Given the description of an element on the screen output the (x, y) to click on. 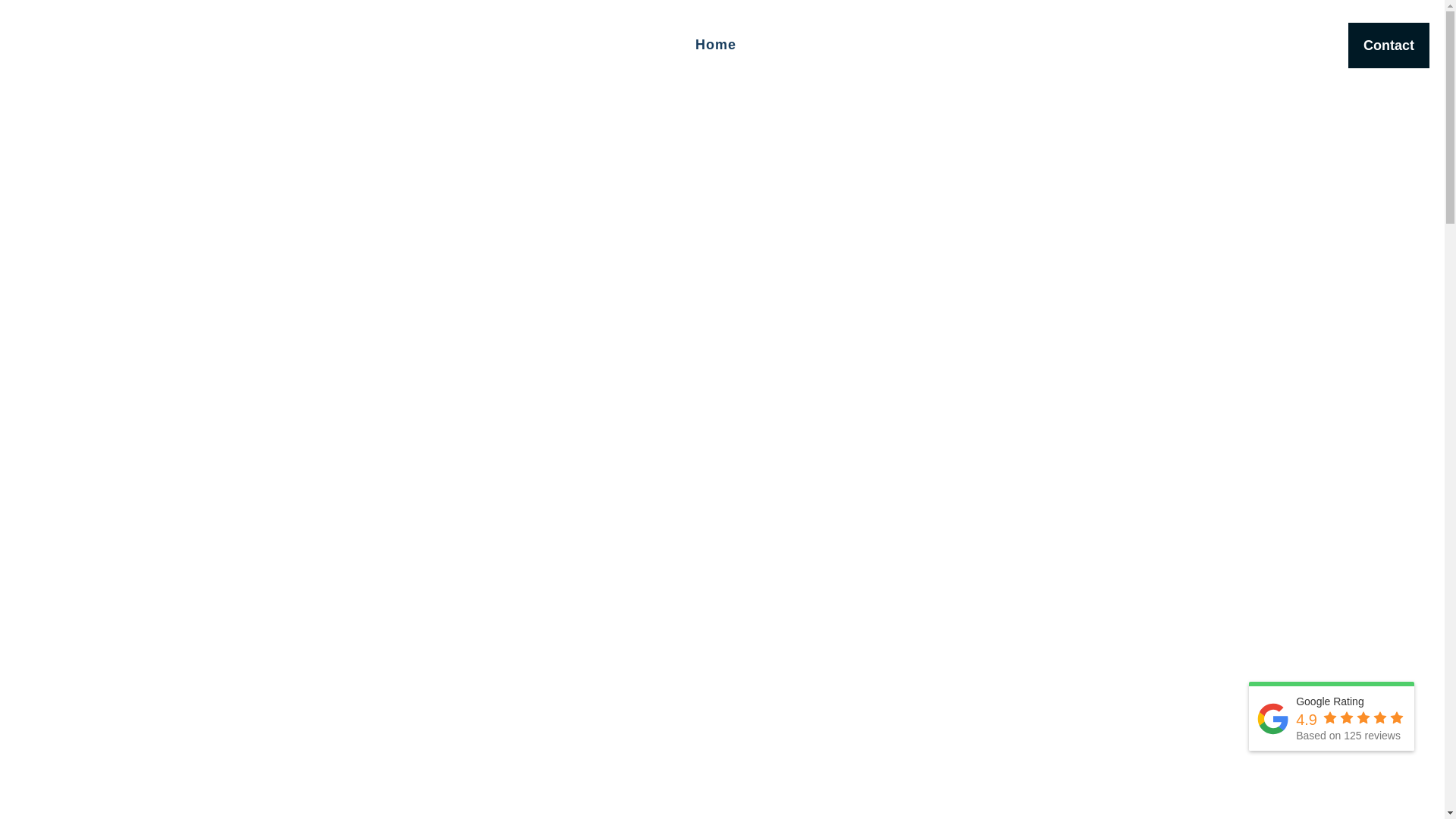
About Me Element type: text (785, 45)
News & Media Element type: text (1211, 45)
Conditions Element type: text (873, 45)
Rehab Protocols Element type: text (1086, 45)
Procedures Element type: text (969, 45)
Contact Element type: text (1388, 45)
Home Element type: text (715, 45)
